Given the description of an element on the screen output the (x, y) to click on. 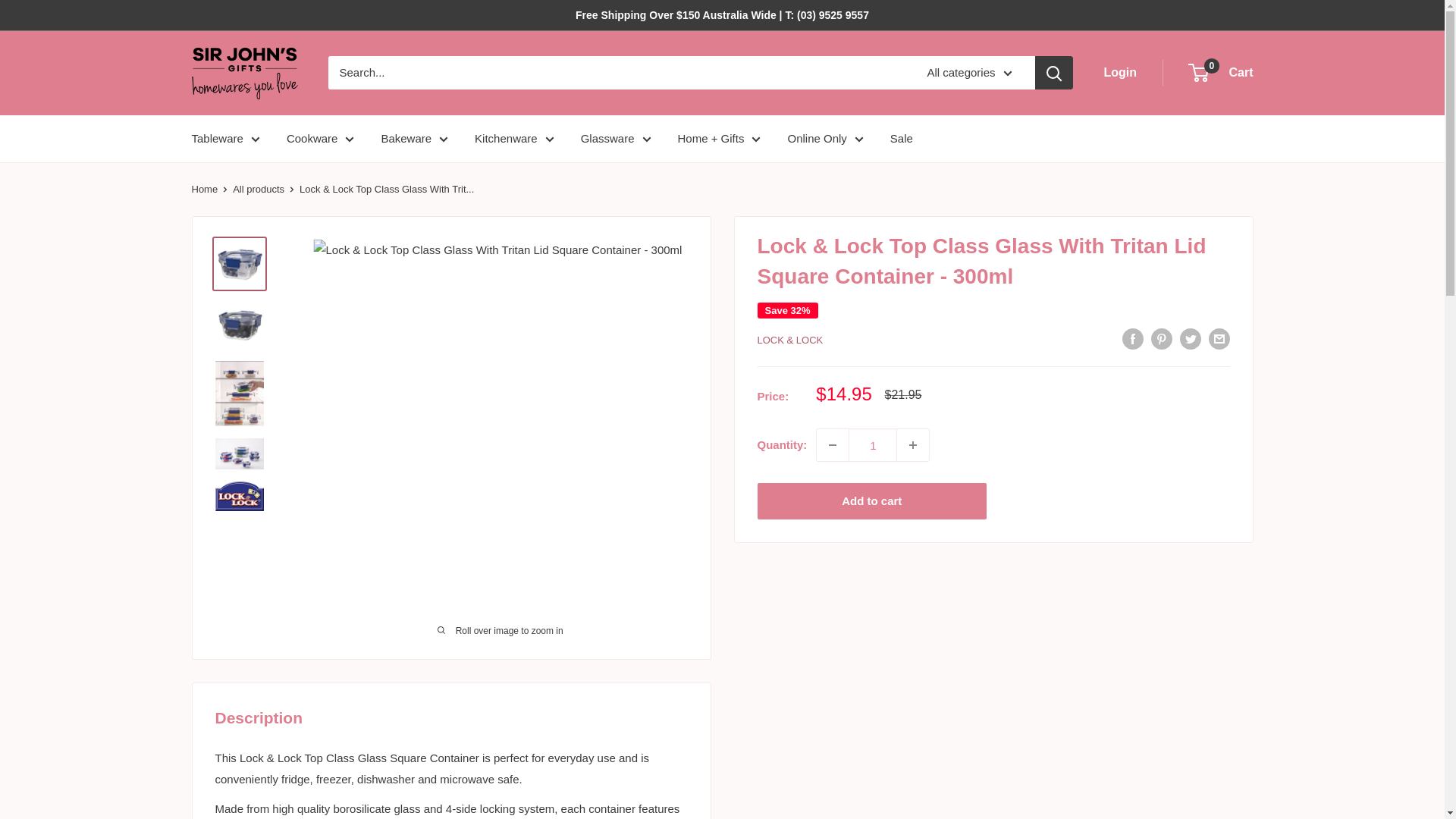
Decrease quantity by 1 (832, 445)
Increase quantity by 1 (912, 445)
1 (872, 445)
